Given the description of an element on the screen output the (x, y) to click on. 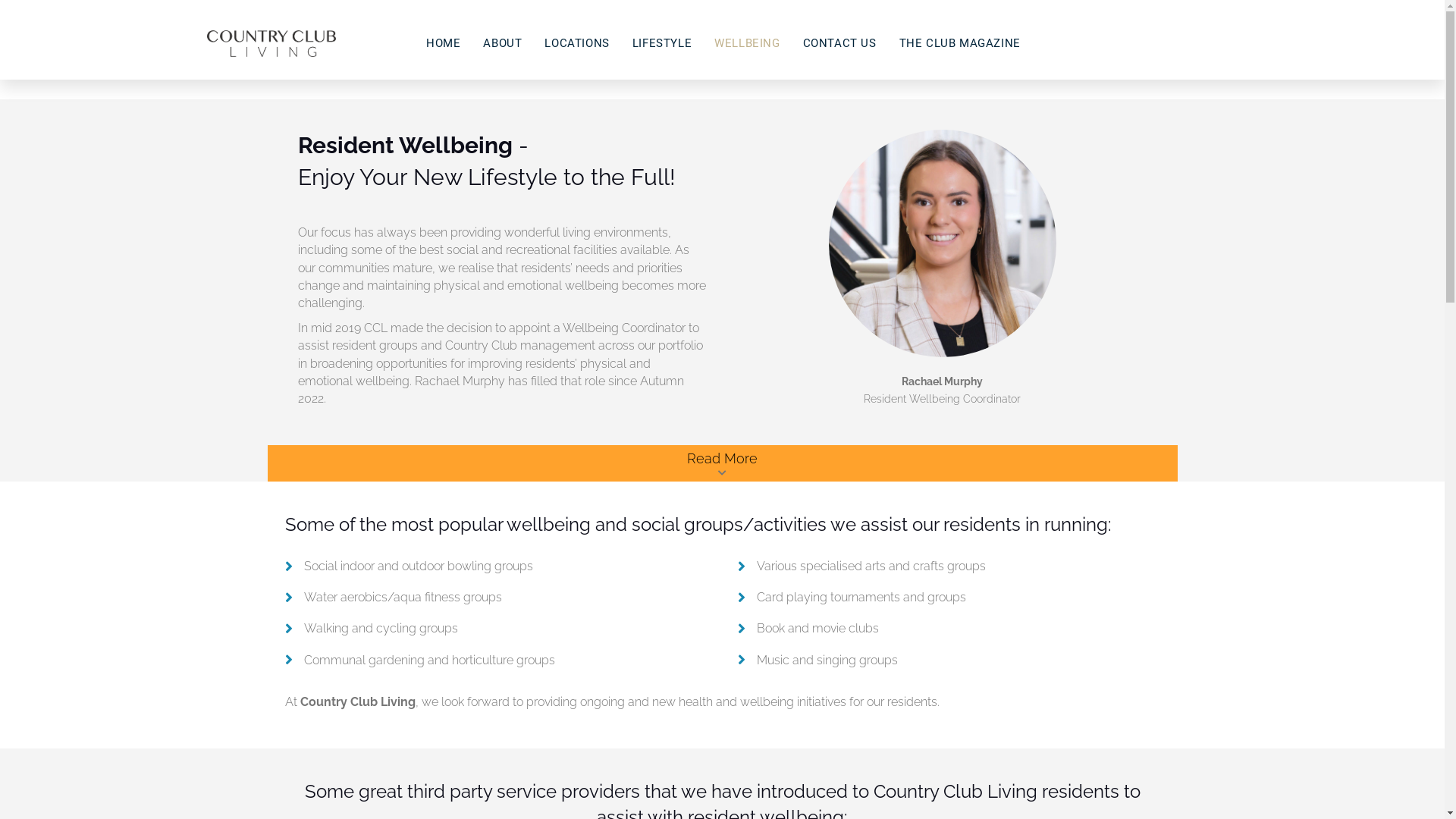
LOCATIONS Element type: text (576, 43)
ABOUT Element type: text (502, 43)
CONTACT US Element type: text (839, 43)
Rachael Murphy Element type: hover (941, 243)
LIFESTYLE Element type: text (661, 43)
THE CLUB MAGAZINE Element type: text (959, 43)
ccl_newsletter Element type: hover (270, 43)
WELLBEING Element type: text (746, 43)
HOME Element type: text (443, 43)
